Given the description of an element on the screen output the (x, y) to click on. 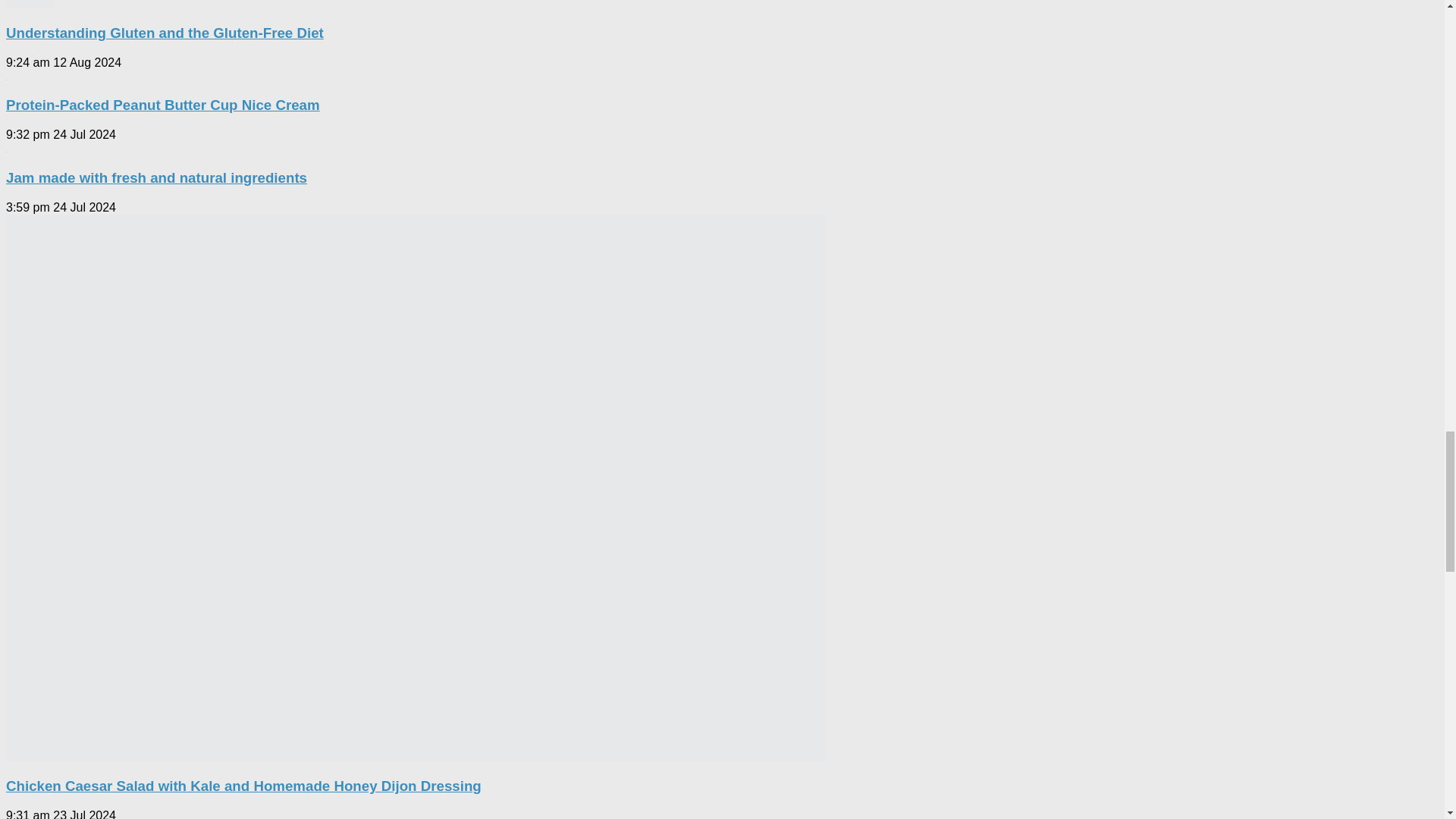
Jam made with fresh and natural ingredients (156, 177)
Protein-Packed Peanut Butter Cup Nice Cream (162, 105)
Understanding Gluten and the Gluten-Free Diet (30, 3)
Understanding Gluten and the Gluten-Free Diet (164, 32)
